Given the description of an element on the screen output the (x, y) to click on. 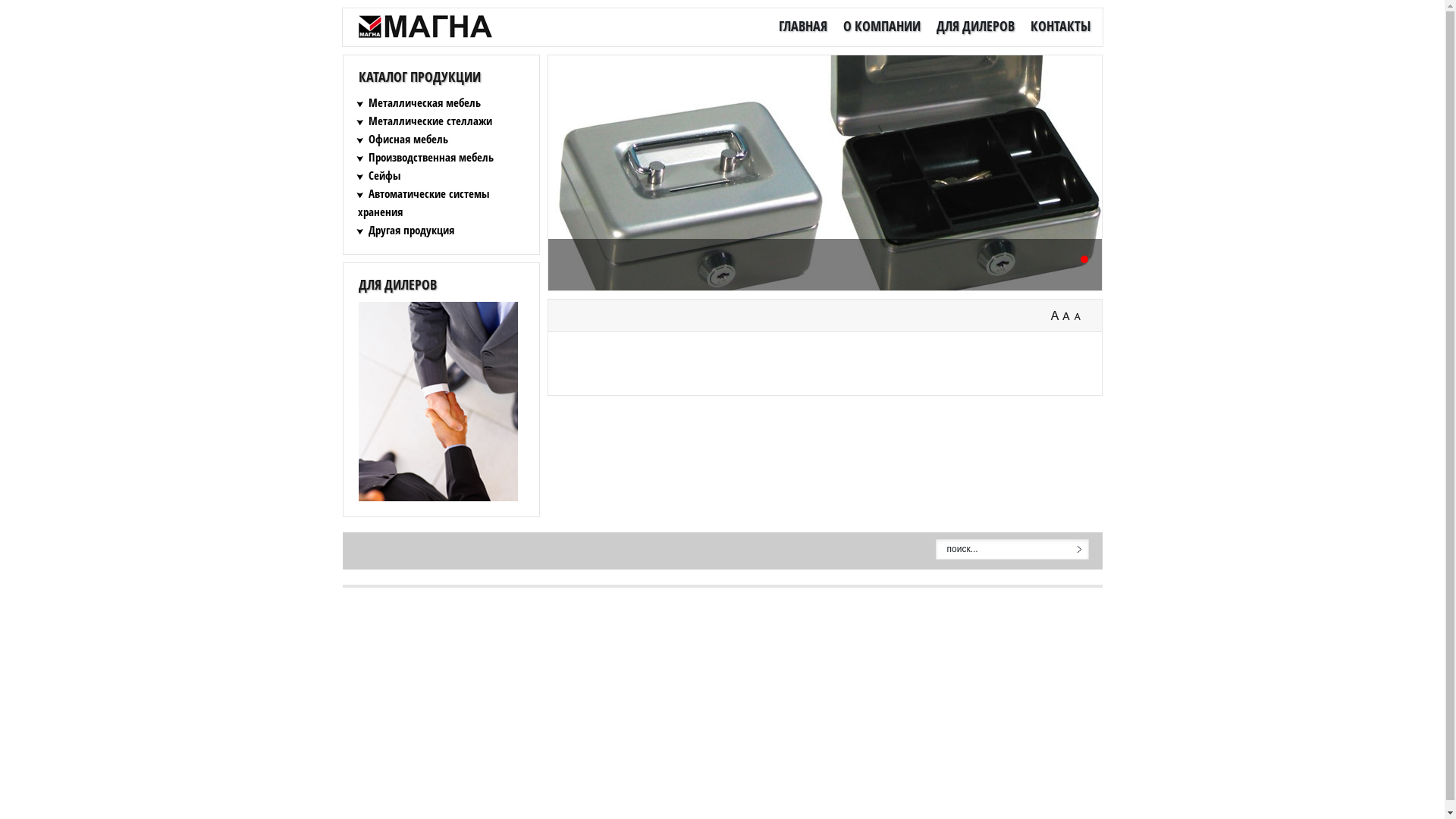
R Element type: text (1067, 316)
A+ Element type: text (1055, 316)
A- Element type: text (1079, 316)
